Given the description of an element on the screen output the (x, y) to click on. 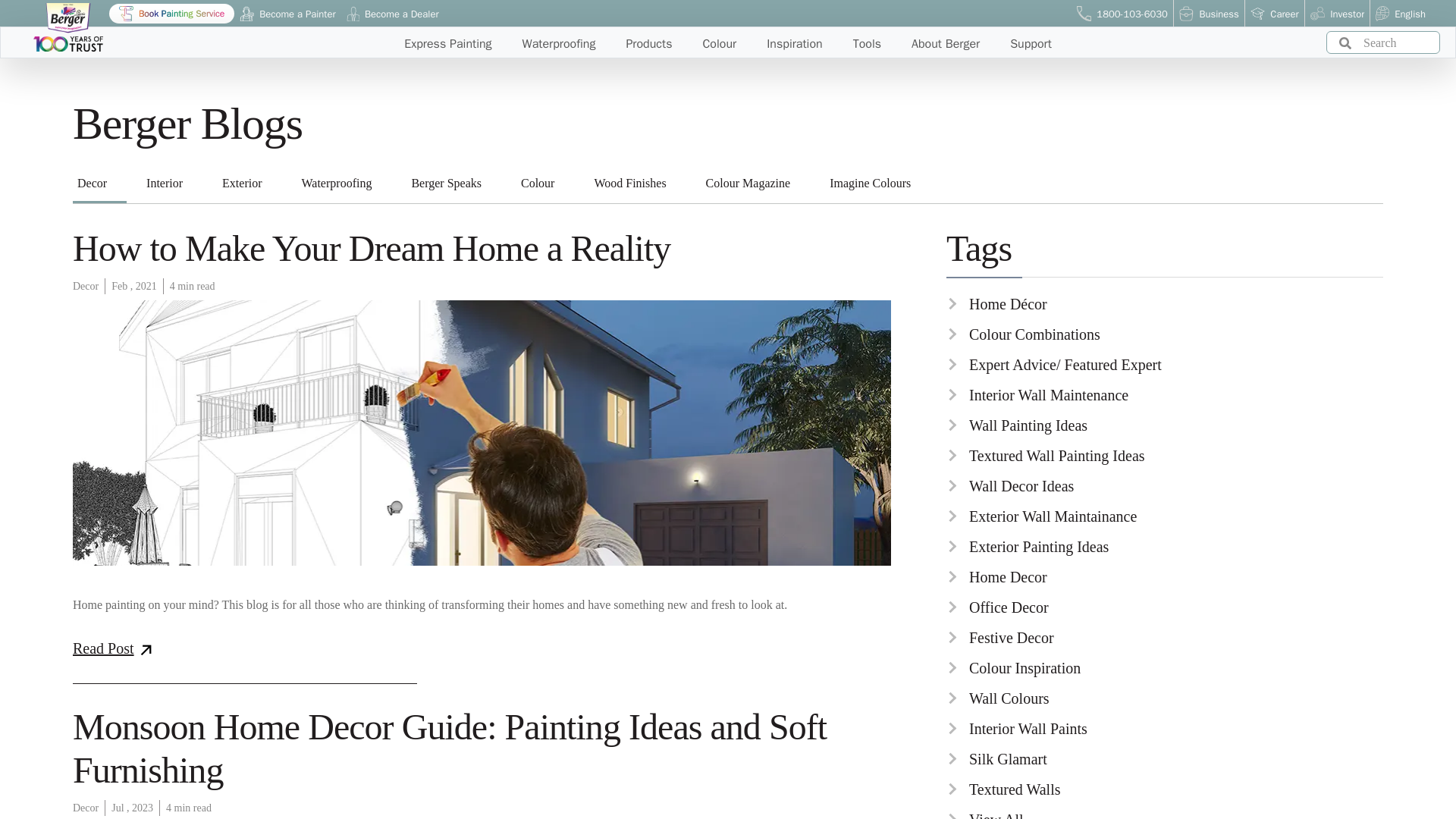
Read Post (121, 647)
English (1400, 14)
Business (1209, 14)
Wood Finishes (629, 183)
Become a Dealer (392, 14)
Wood Finishes (629, 182)
Colour (537, 183)
Exterior (241, 183)
Decor (92, 183)
Colour (537, 182)
